Given the description of an element on the screen output the (x, y) to click on. 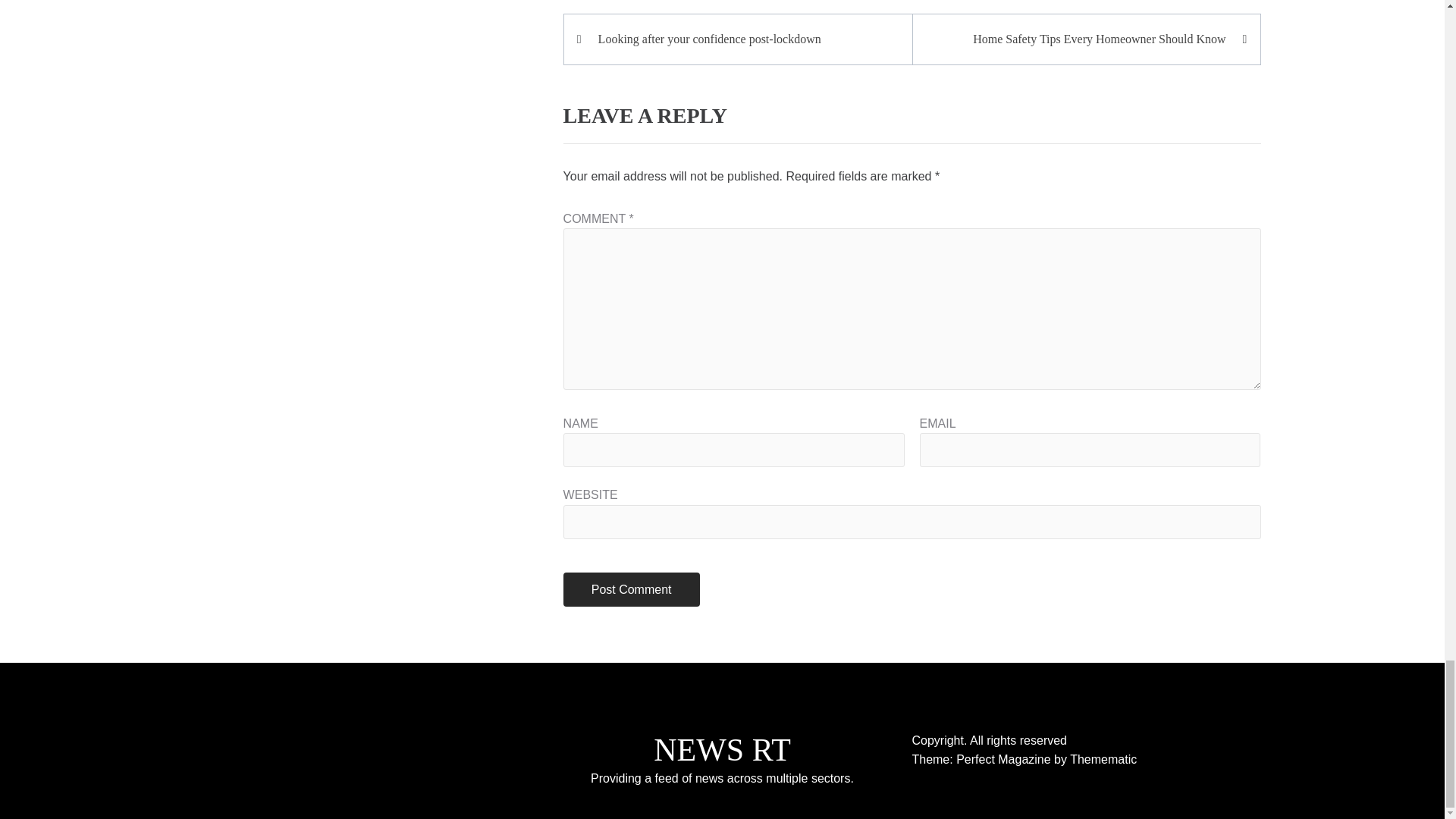
Post Comment (631, 589)
Post Comment (631, 589)
Home Safety Tips Every Homeowner Should Know (1078, 39)
Looking after your confidence post-lockdown (745, 39)
